Given the description of an element on the screen output the (x, y) to click on. 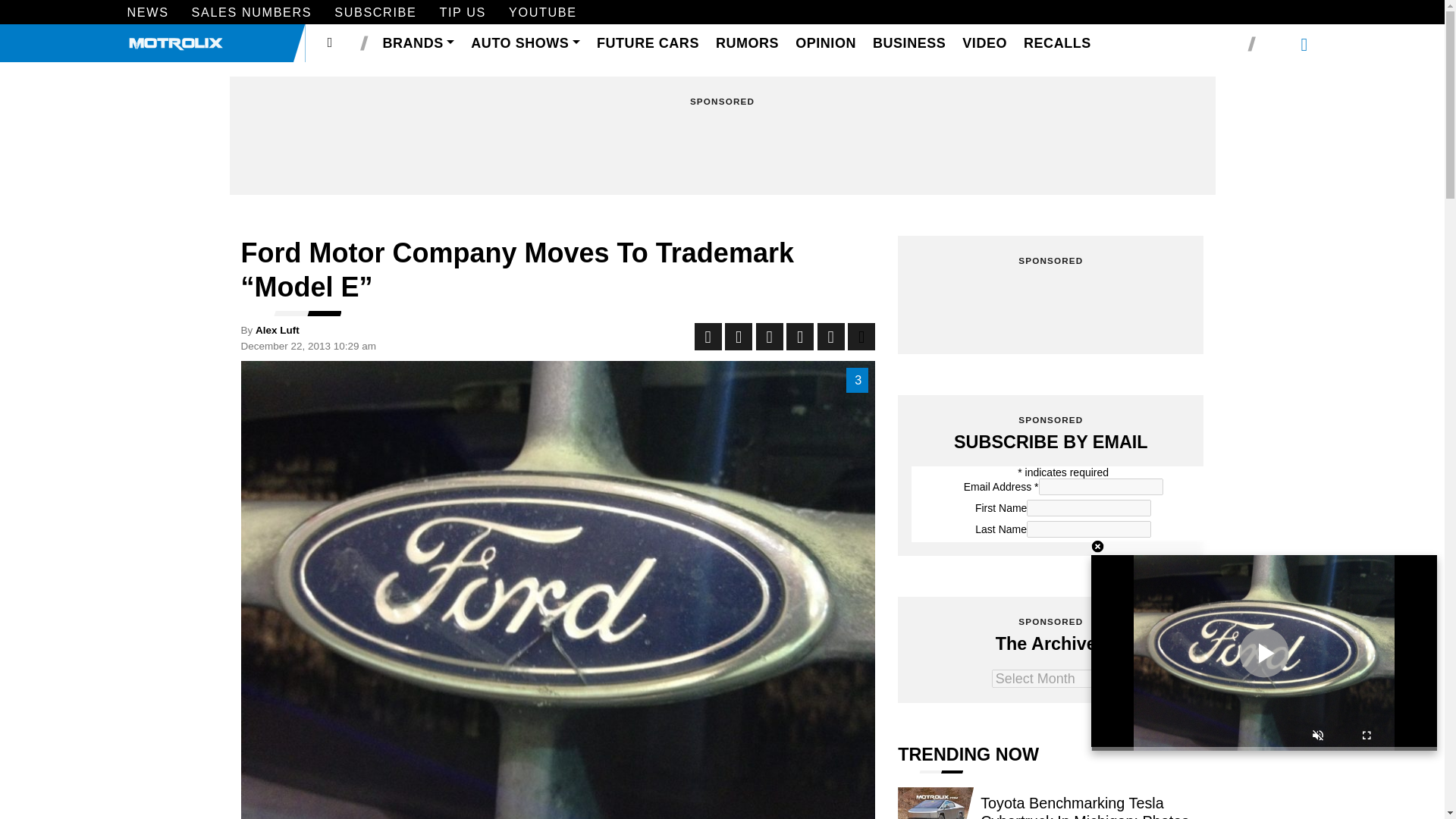
Share on Facebook (708, 336)
SUBSCRIBE (375, 13)
Print this article (861, 336)
Advertisement (722, 146)
Unmute (1318, 737)
Play (1263, 652)
BRANDS (418, 43)
Share by Email (830, 336)
NEWS (148, 13)
TIP US (462, 13)
SALES NUMBERS (252, 13)
YOUTUBE (542, 13)
Share on Pinterest (799, 336)
Share on Twitter (738, 336)
Share on LinkedIn (769, 336)
